Given the description of an element on the screen output the (x, y) to click on. 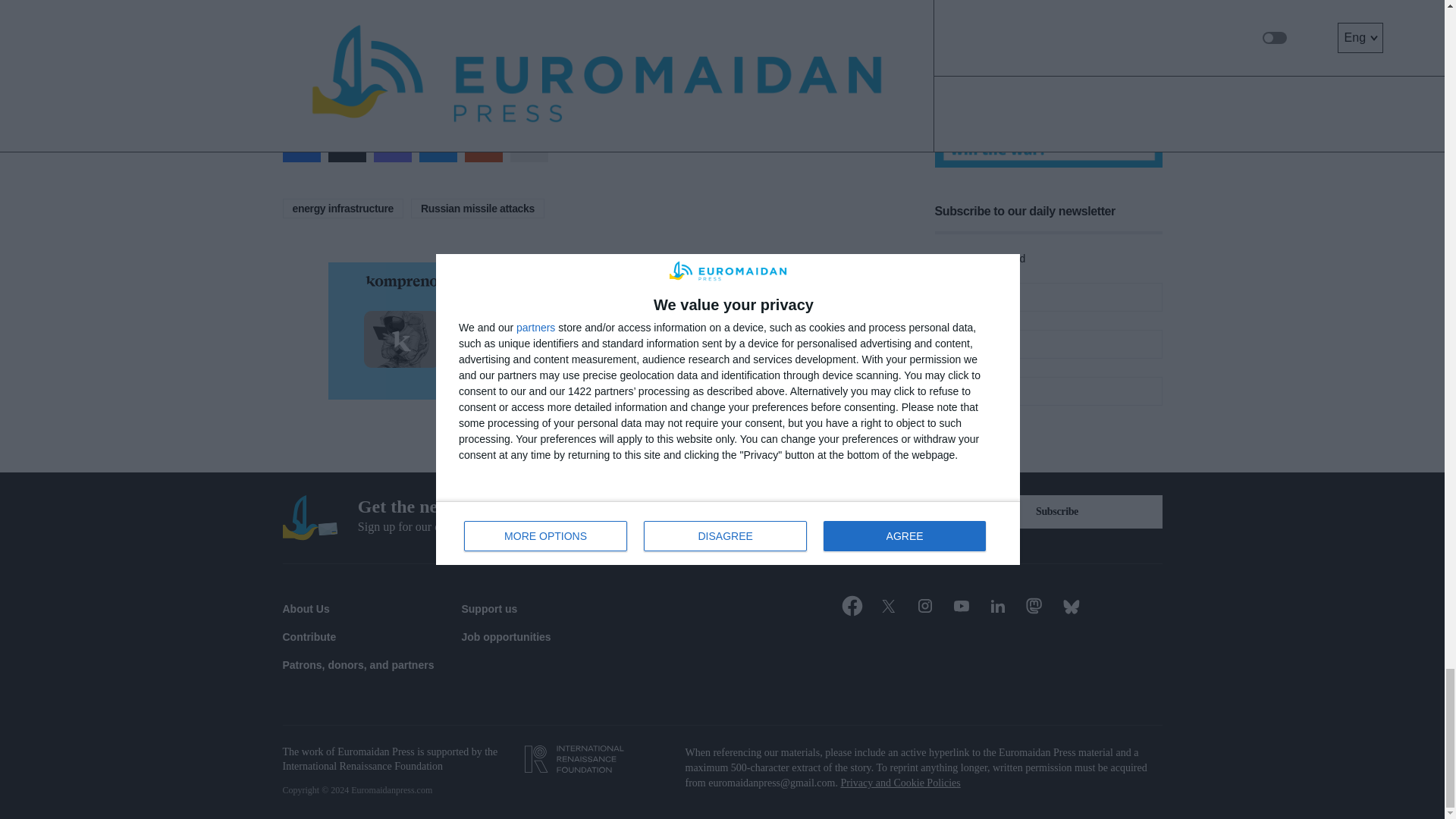
Share to Reddit (483, 143)
Subscribe (977, 420)
Share to Twitter (346, 143)
Share to Mastodon (391, 143)
Share to Facebook (301, 143)
Subscribe (1056, 511)
Share to Bluesky (438, 143)
Share to Email (528, 143)
